Given the description of an element on the screen output the (x, y) to click on. 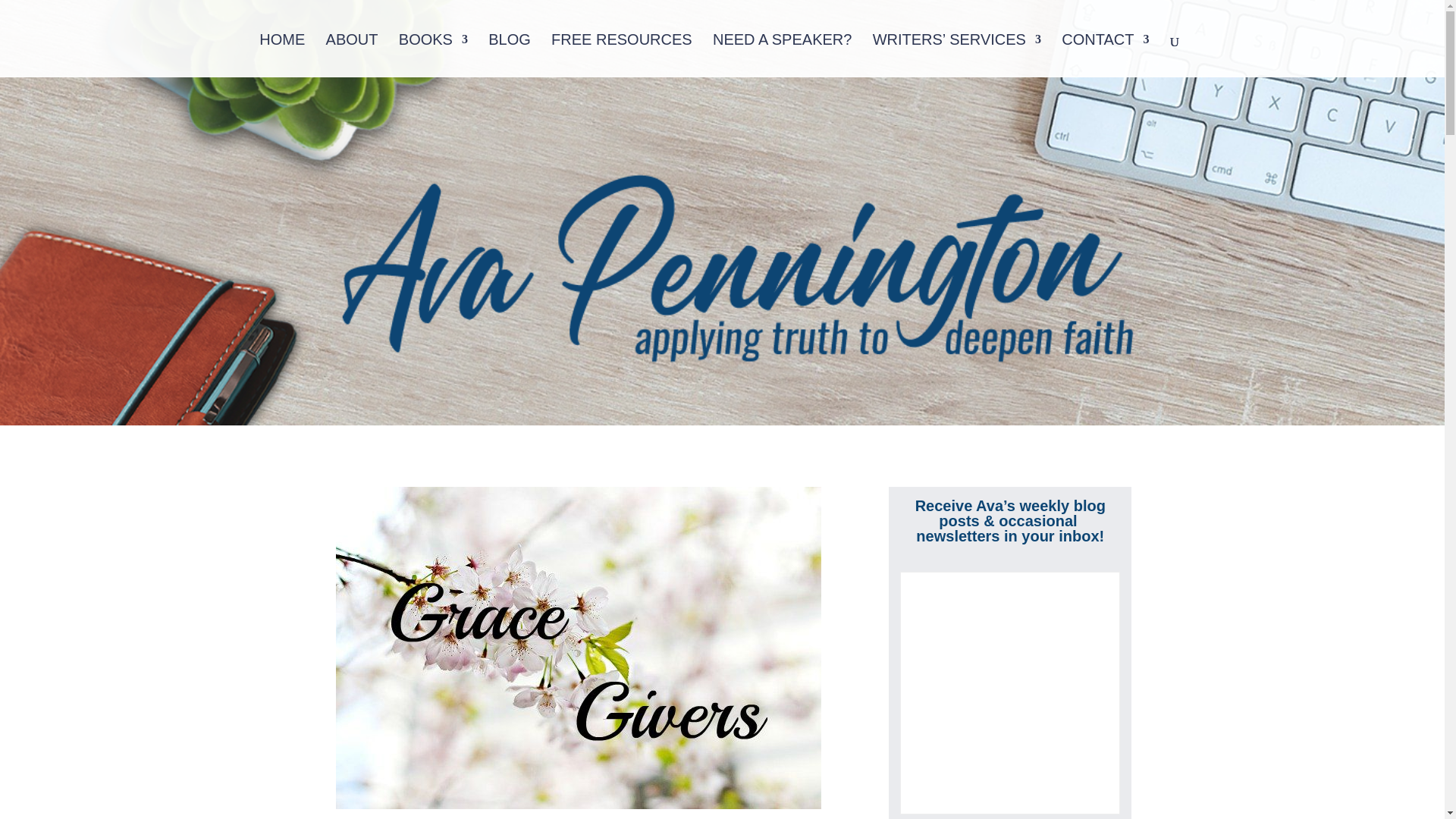
BOOKS (432, 55)
HOME (281, 55)
NEED A SPEAKER? (782, 55)
CONTACT (1104, 55)
ABOUT (352, 55)
BLOG (509, 55)
FREE RESOURCES (622, 55)
